Given the description of an element on the screen output the (x, y) to click on. 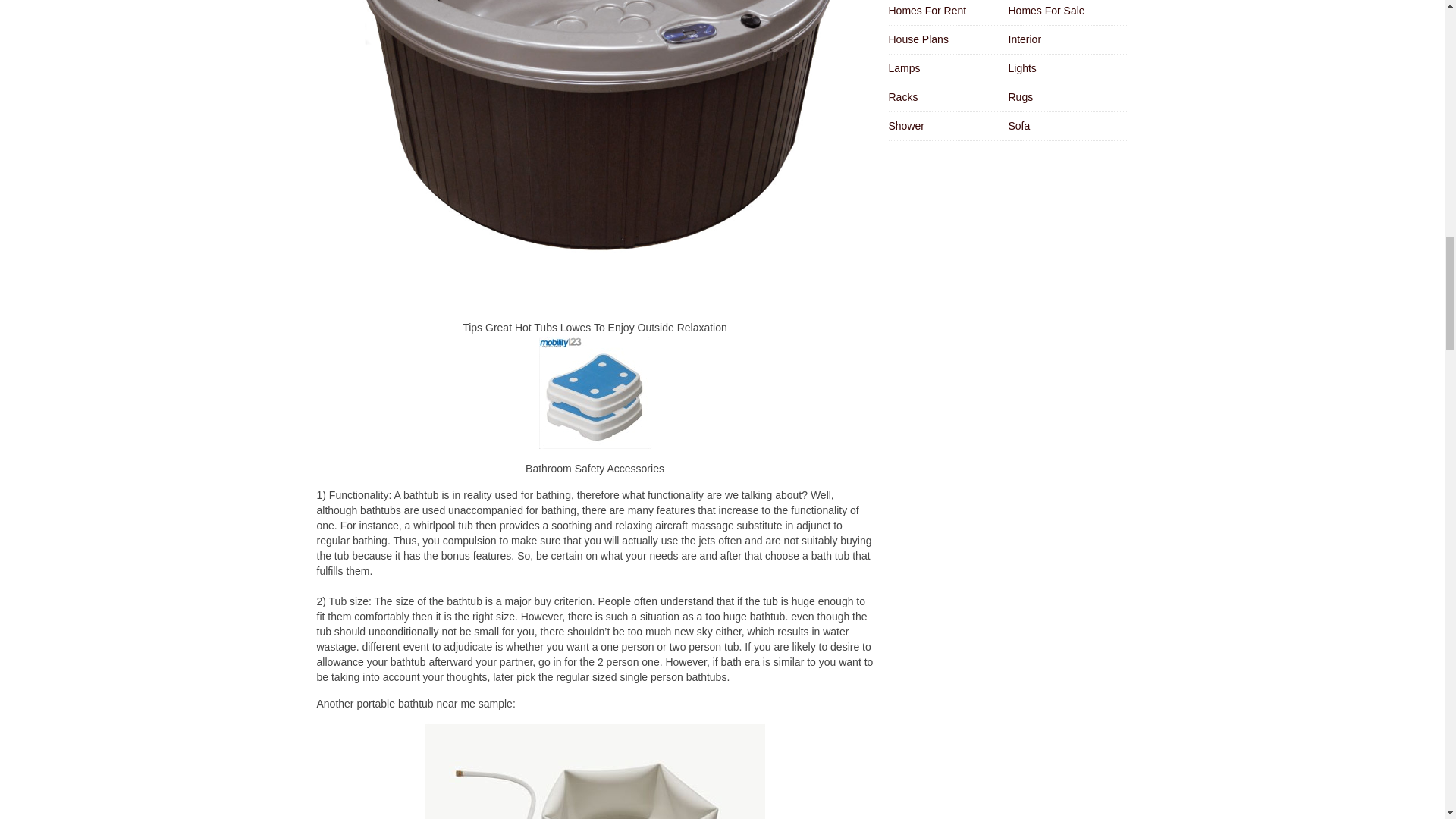
Rubber Tub Portable Washing Up Bowl Tuvie (595, 771)
Bathroom Safety Accessories (595, 392)
